Given the description of an element on the screen output the (x, y) to click on. 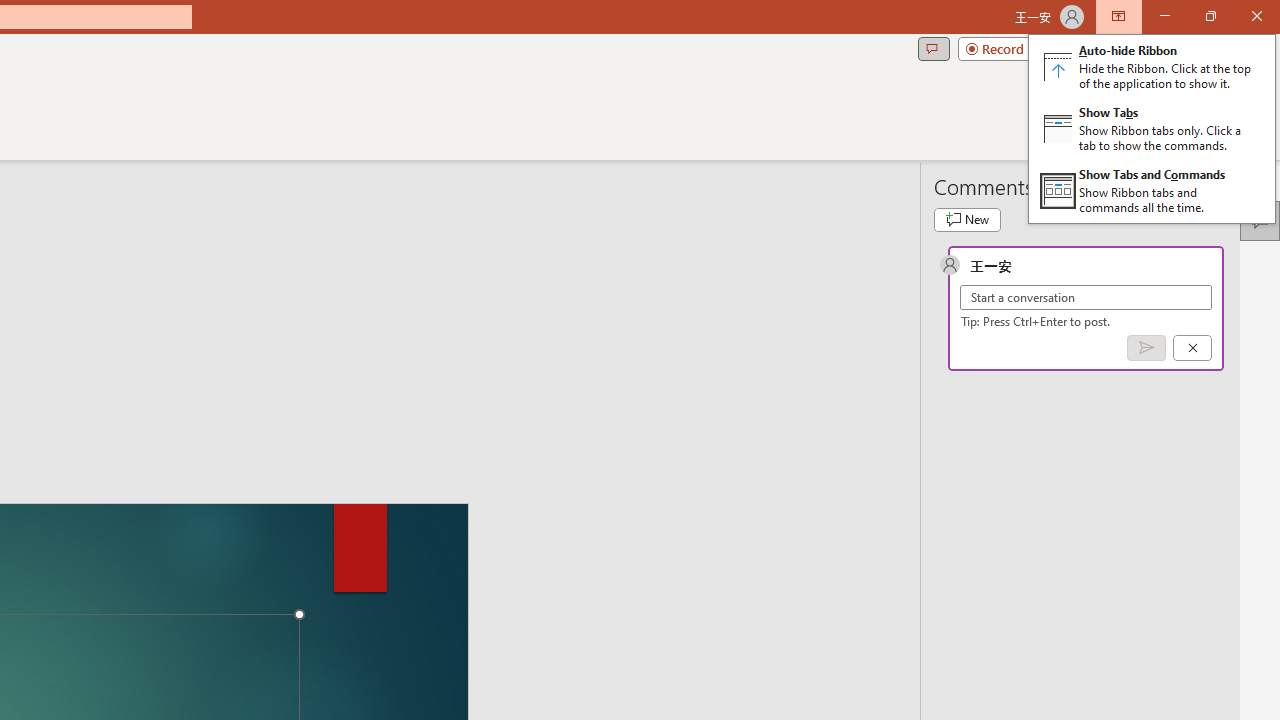
Start a conversation (1085, 297)
Restore Down (1210, 16)
Ribbon Display Options (1118, 16)
Close (1256, 16)
Cancel (1192, 347)
Post comment (Ctrl + Enter) (1146, 347)
Comments (933, 48)
New comment (967, 219)
Minimize (1164, 16)
Ribbon Display Options (1151, 128)
